Given the description of an element on the screen output the (x, y) to click on. 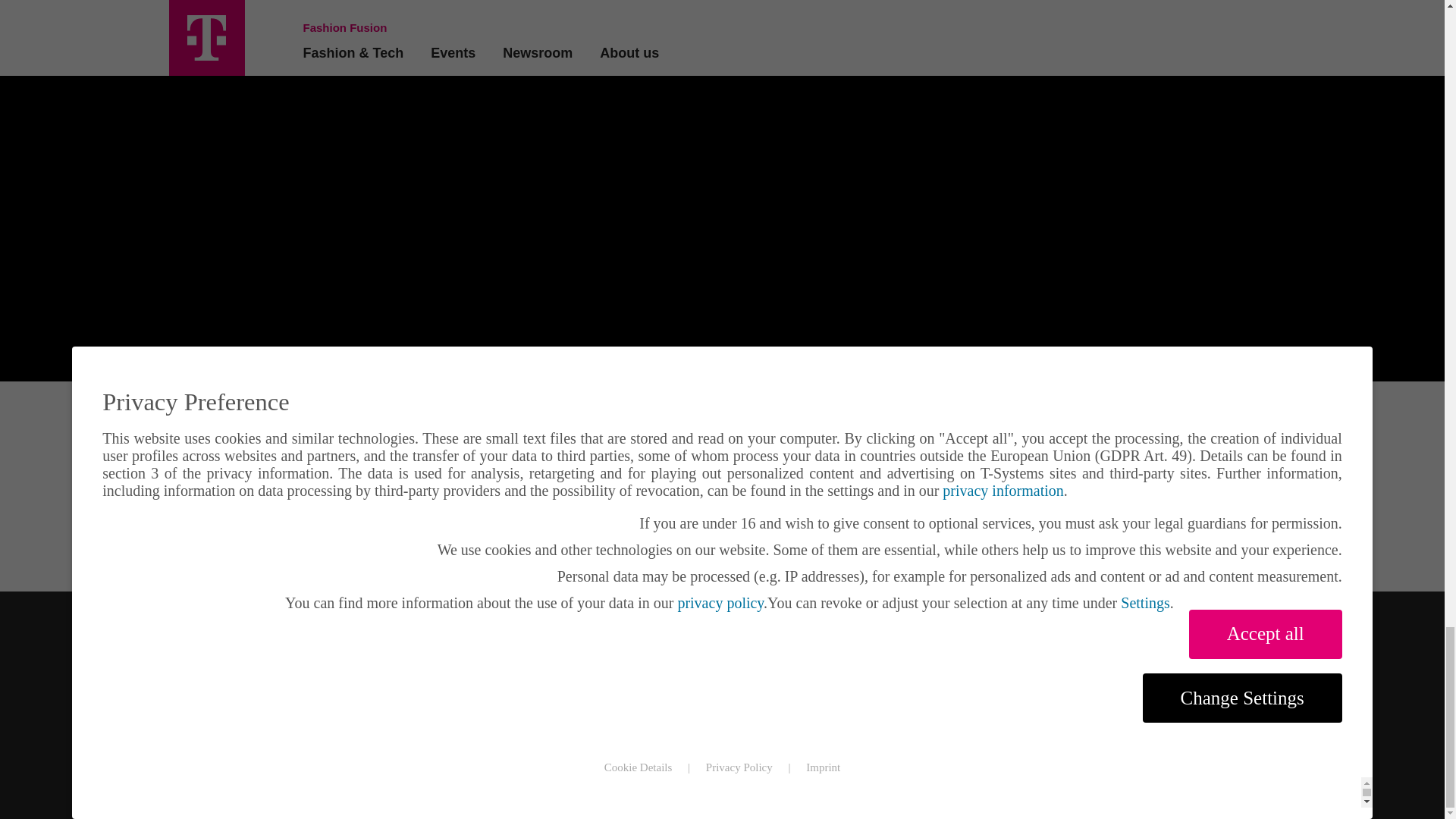
Cookie Settings (1021, 811)
Imprint (575, 811)
Disclaimer (818, 811)
Contact (913, 811)
Data Privacy Policy (692, 811)
